Given the description of an element on the screen output the (x, y) to click on. 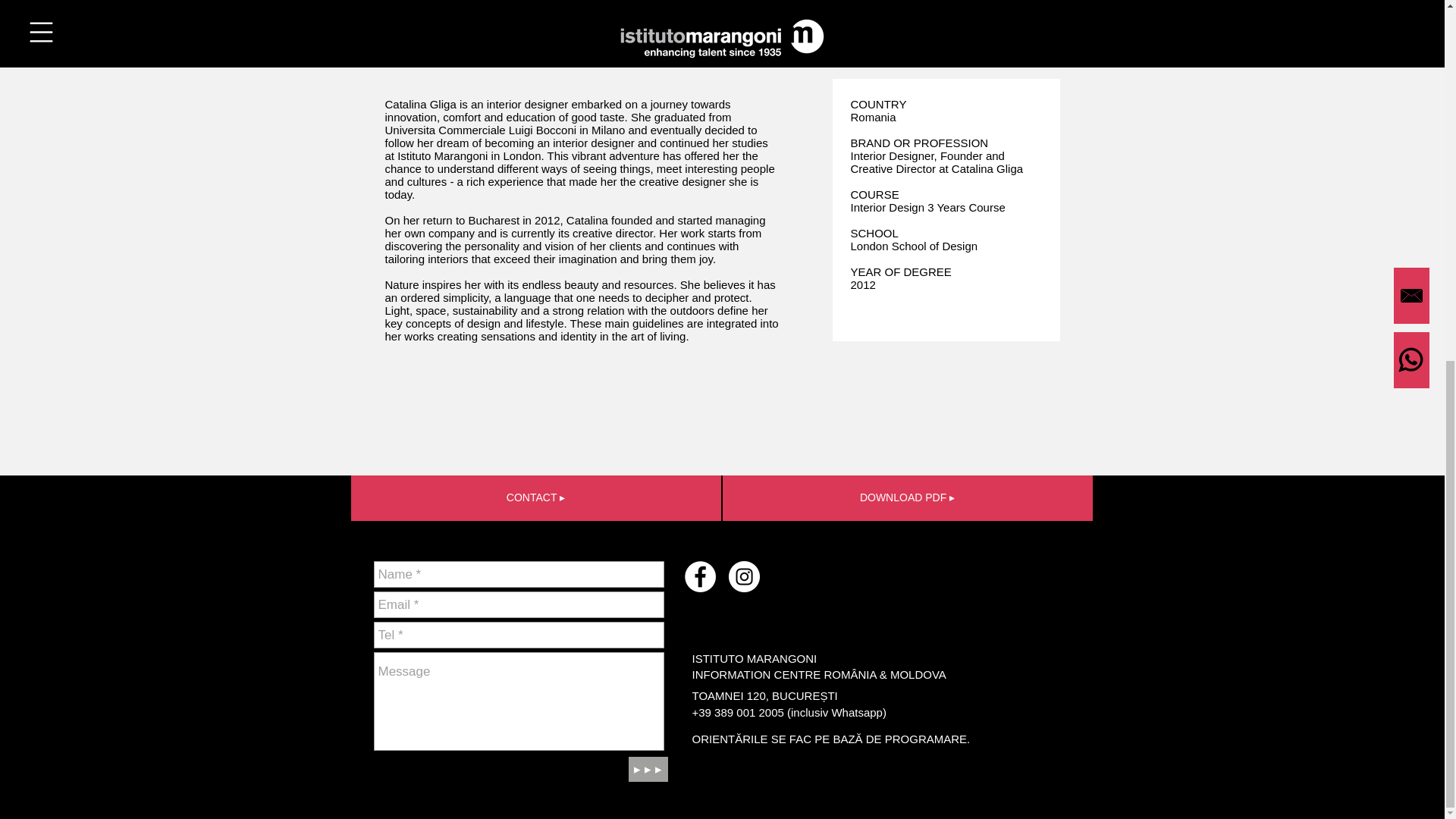
ISTITUTO MARANGONI (759, 658)
